Given the description of an element on the screen output the (x, y) to click on. 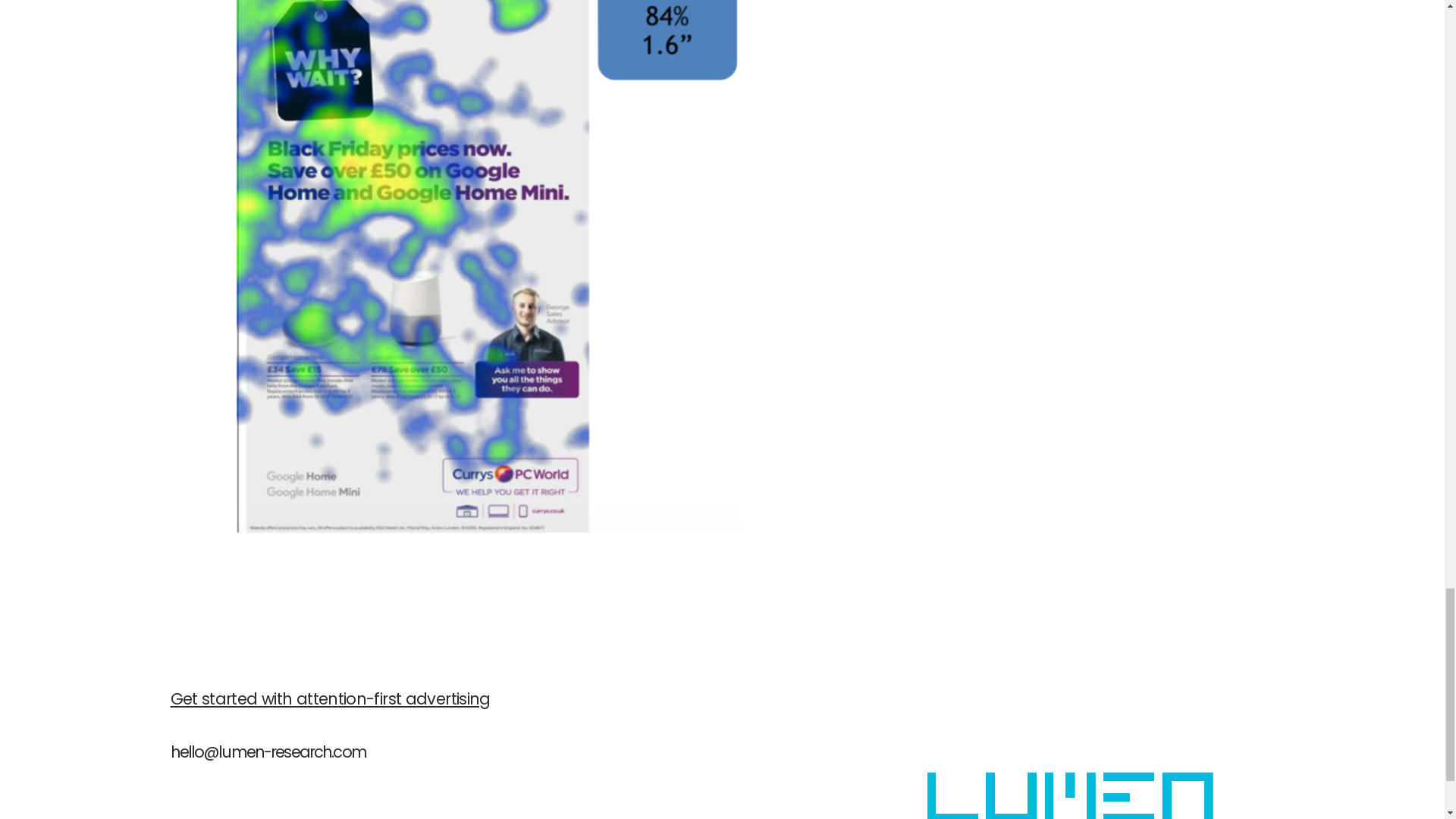
Get started with attention-first advertising (329, 700)
